Given the description of an element on the screen output the (x, y) to click on. 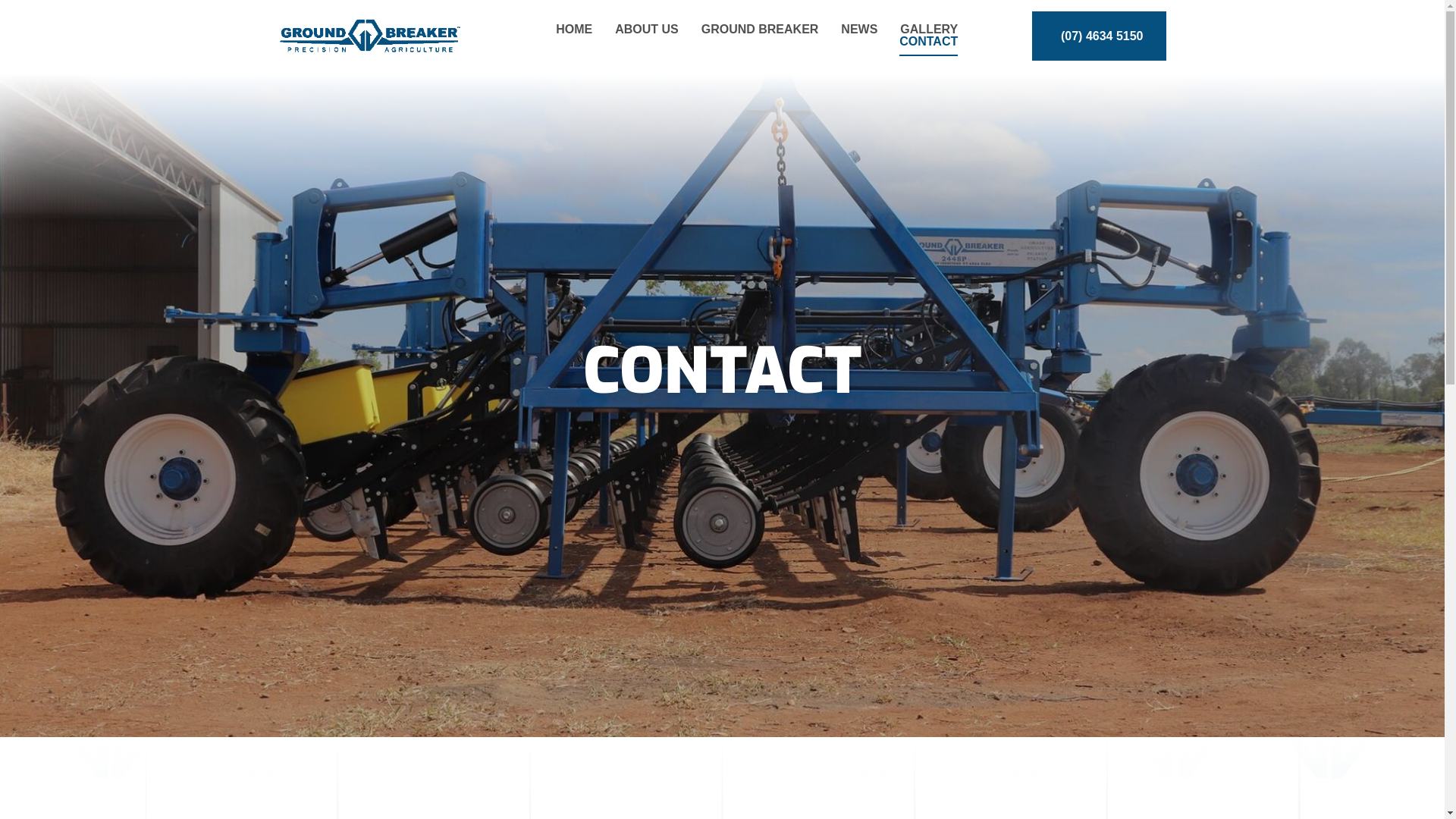
HOME Element type: text (573, 29)
ABOUT US Element type: text (646, 29)
CONTACT Element type: text (928, 41)
(07) 4634 5150 Element type: text (1099, 35)
GALLERY Element type: text (928, 29)
NEWS Element type: text (858, 29)
GROUND BREAKER Element type: text (760, 29)
